Given the description of an element on the screen output the (x, y) to click on. 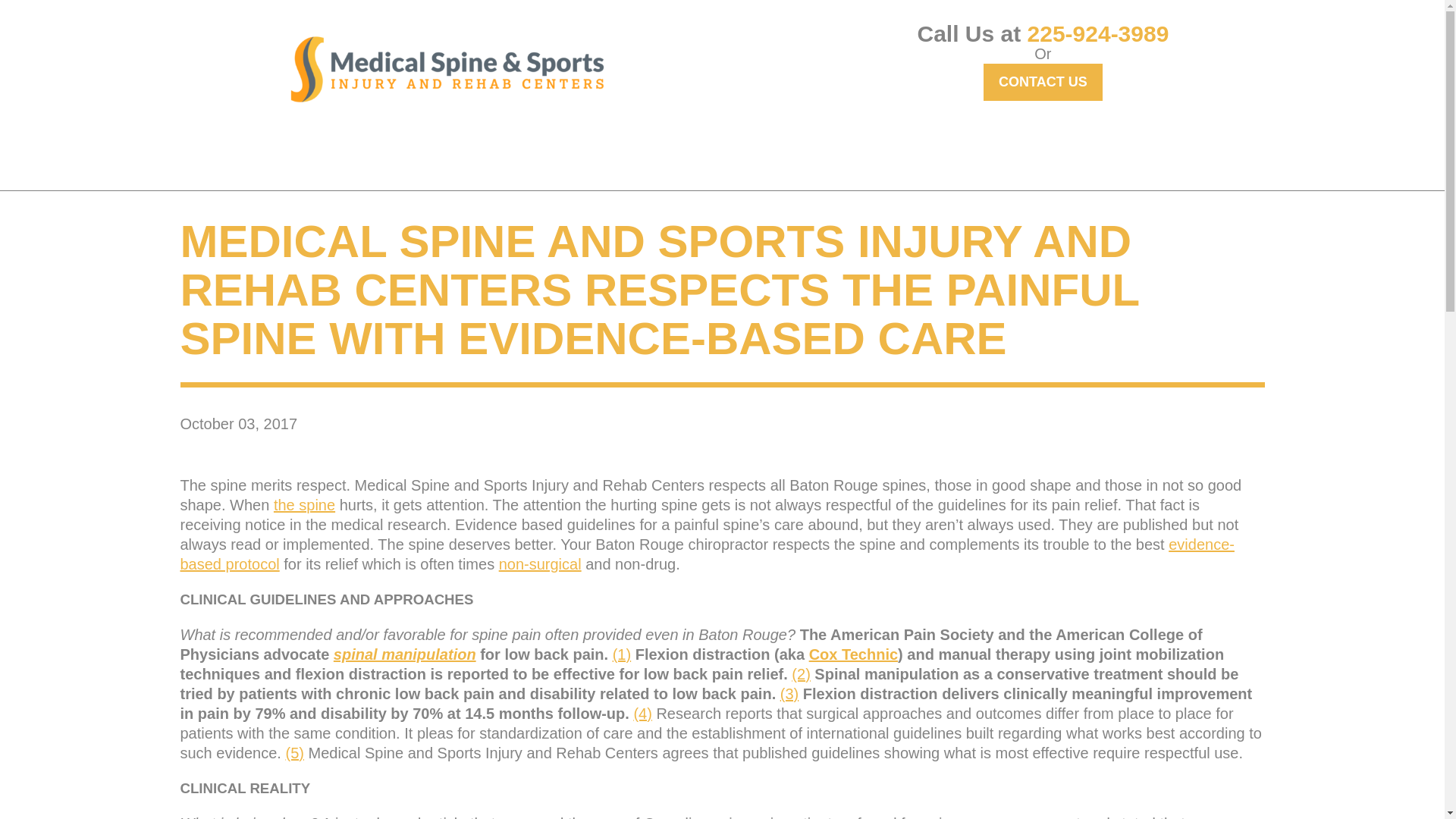
Medical Spine and Sports Injury and Rehab Centers Home (446, 69)
CONTACT US (1043, 81)
225-924-3989 (1098, 33)
GET RELIEF (353, 153)
ID YOUR PAIN (467, 153)
